Given the description of an element on the screen output the (x, y) to click on. 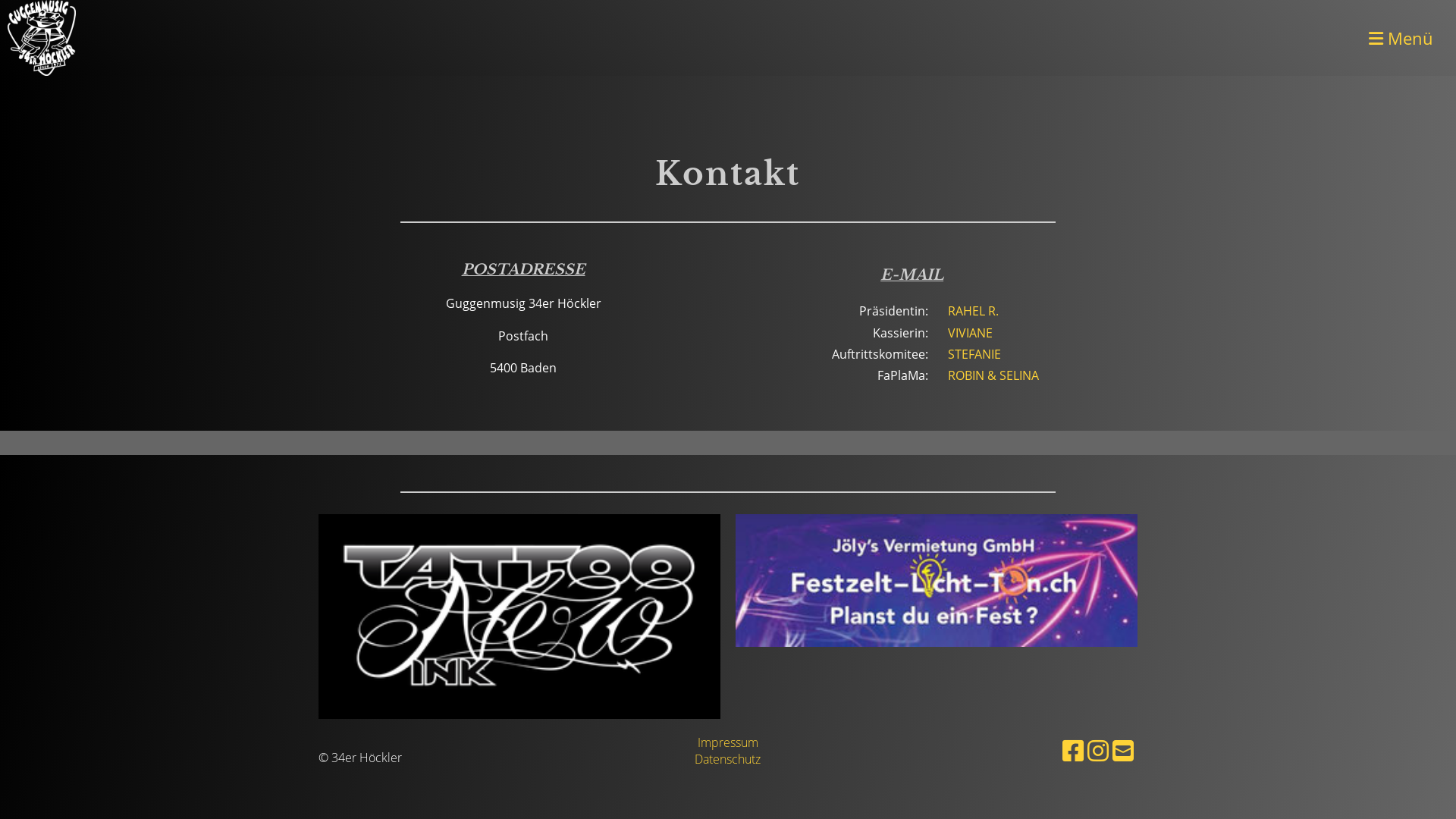
Impressum Element type: text (727, 742)
ROBIN & SELINA Element type: text (992, 375)
VIVIANE Element type: text (969, 332)
STEFANIE Element type: text (974, 353)
RAHEL R. Element type: text (972, 310)
Datenschutz Element type: text (727, 758)
